Given the description of an element on the screen output the (x, y) to click on. 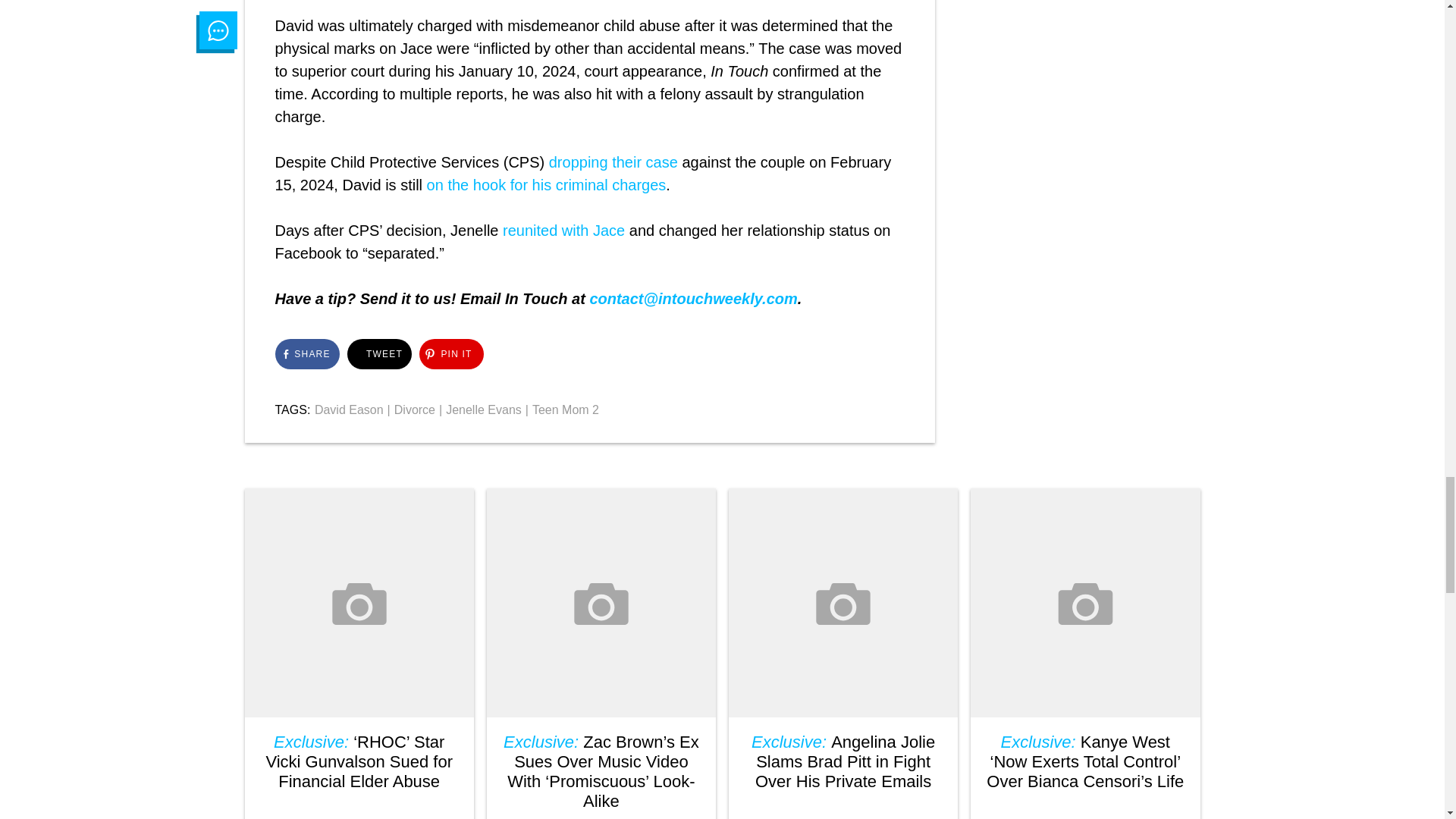
Click to share on Twitter (379, 354)
Click to share on Pinterest (451, 354)
Click to share on Facebook (307, 354)
